Given the description of an element on the screen output the (x, y) to click on. 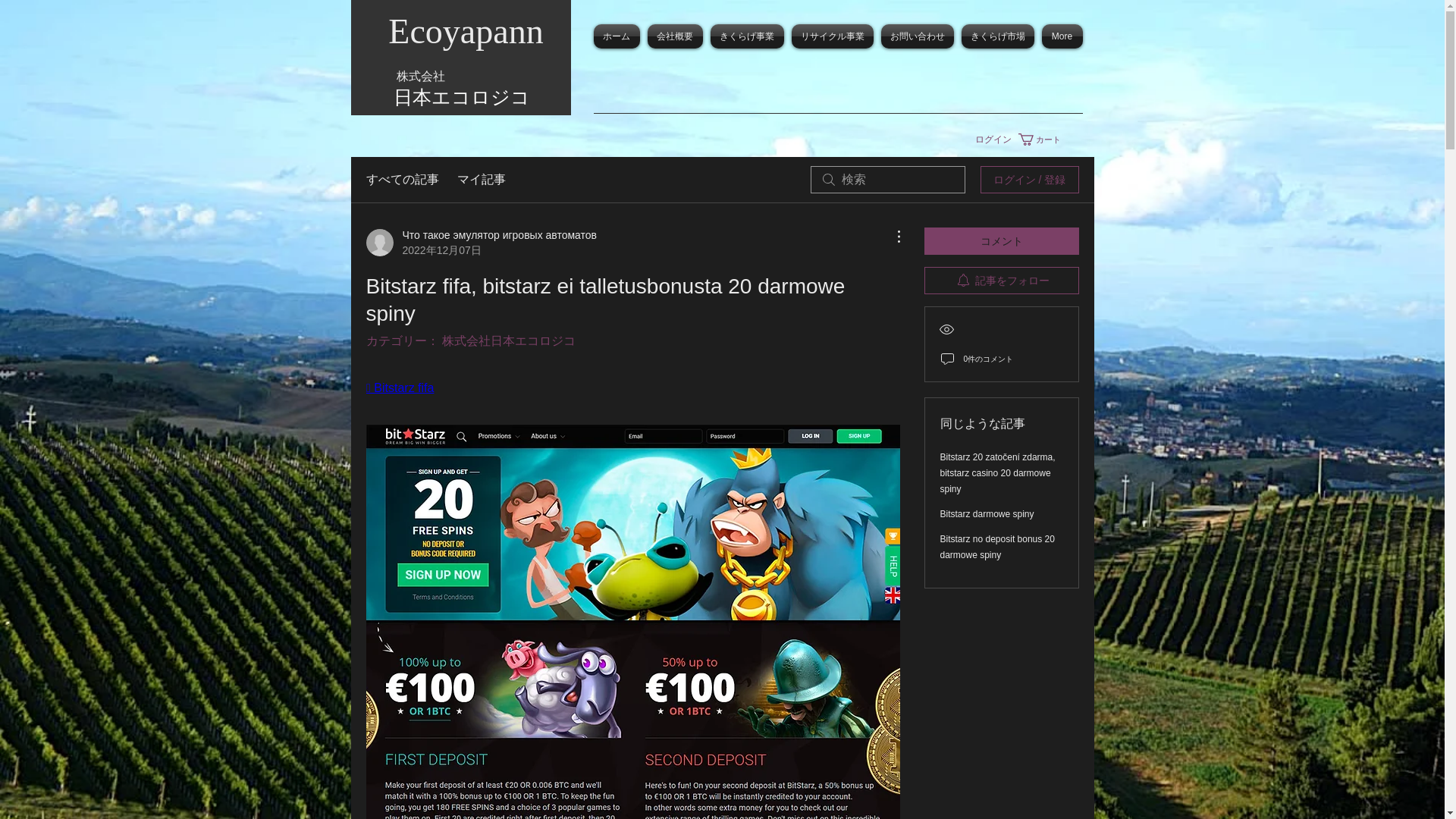
Bitstarz no deposit bonus 20 darmowe spiny (997, 546)
Ecoyapann (465, 31)
Bitstarz darmowe spiny (986, 513)
